Given the description of an element on the screen output the (x, y) to click on. 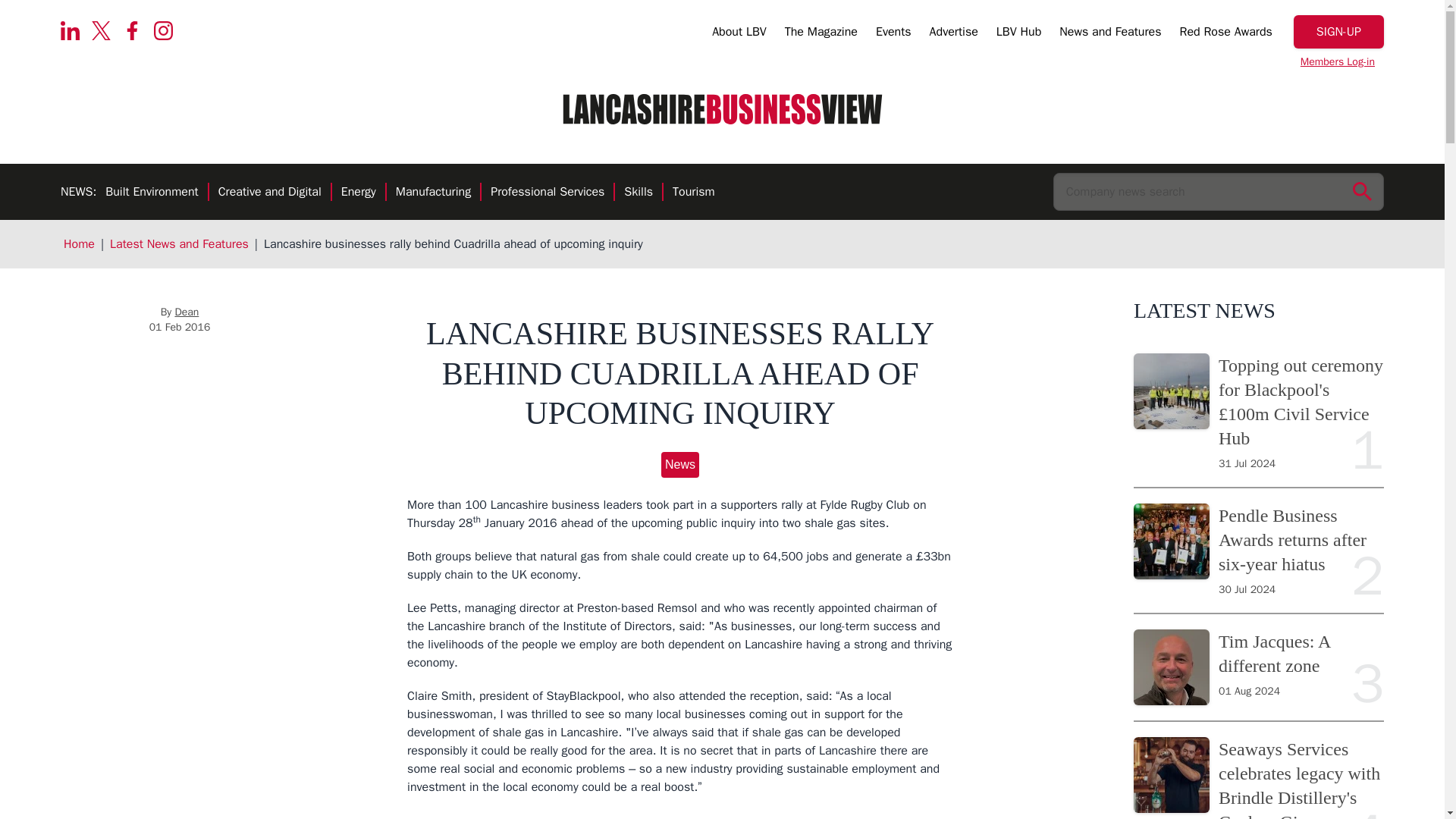
Events (893, 34)
Energy (357, 192)
Members Log-in (1337, 61)
Skills (638, 192)
Red Rose Awards (1225, 34)
LBV Hub (1018, 34)
Advertise (954, 34)
Professional Services (547, 192)
Built Environment (151, 192)
Creative and Digital (269, 192)
